Given the description of an element on the screen output the (x, y) to click on. 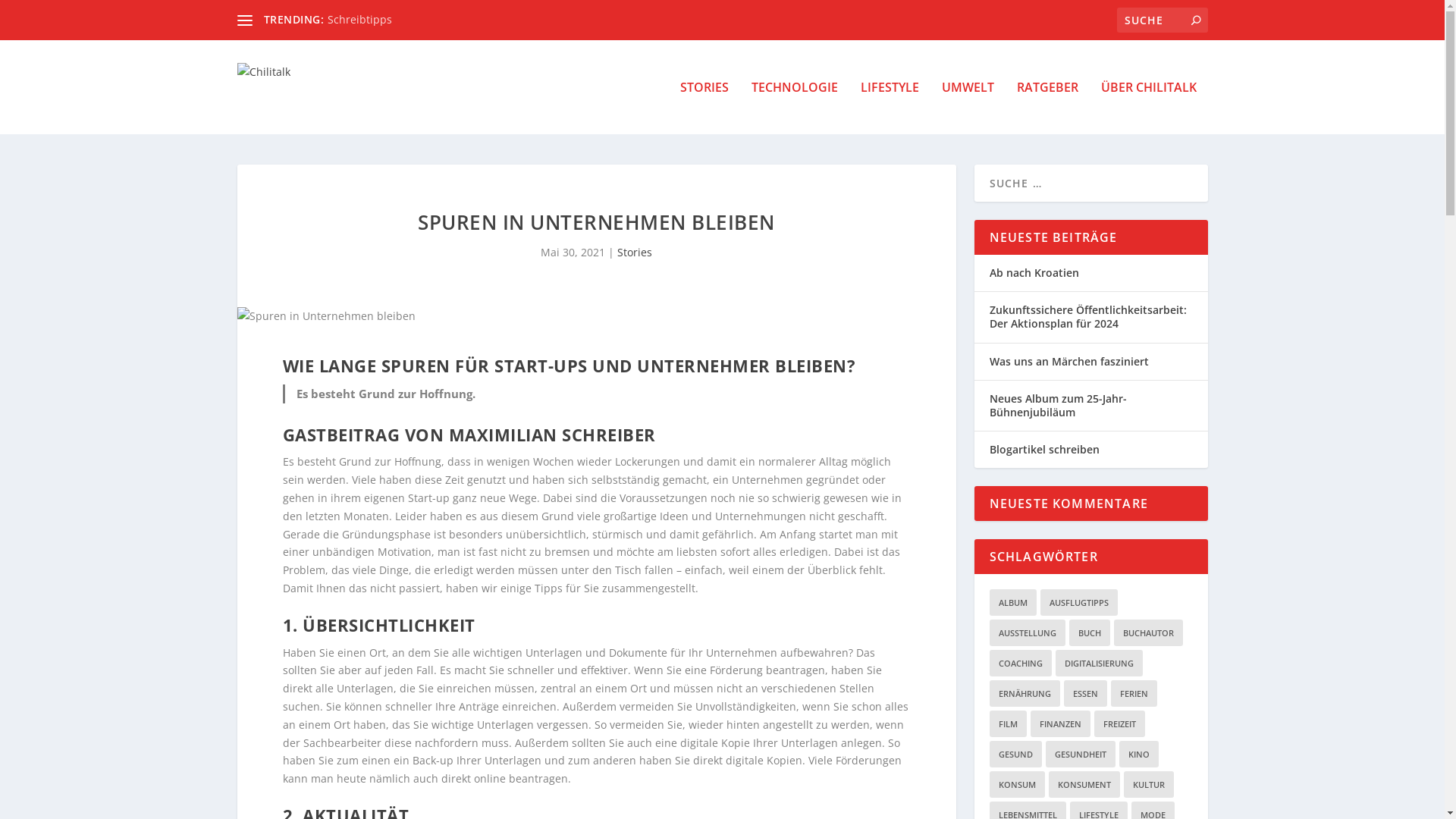
FREIZEIT Element type: text (1118, 723)
GESUND Element type: text (1014, 753)
AUSFLUGTIPPS Element type: text (1078, 602)
KONSUM Element type: text (1016, 784)
KULTUR Element type: text (1148, 784)
Ab nach Kroatien Element type: text (1033, 272)
FILM Element type: text (1007, 723)
Stories Element type: text (634, 251)
FINANZEN Element type: text (1059, 723)
UMWELT Element type: text (967, 107)
FERIEN Element type: text (1133, 693)
ALBUM Element type: text (1011, 602)
RATGEBER Element type: text (1046, 107)
BUCH Element type: text (1089, 632)
AUSSTELLUNG Element type: text (1026, 632)
MAXIMILIAN SCHREIBER Element type: text (551, 434)
Blogartikel schreiben Element type: text (1043, 449)
Suchen nach: Element type: hover (1161, 19)
LIFESTYLE Element type: text (888, 107)
ESSEN Element type: text (1084, 693)
STORIES Element type: text (703, 107)
Suche Element type: text (26, 14)
GESUNDHEIT Element type: text (1079, 753)
COACHING Element type: text (1019, 662)
TECHNOLOGIE Element type: text (793, 107)
BUCHAUTOR Element type: text (1147, 632)
Schreibtipps Element type: text (359, 19)
DIGITALISIERUNG Element type: text (1098, 662)
KONSUMENT Element type: text (1083, 784)
KINO Element type: text (1138, 753)
